Given the description of an element on the screen output the (x, y) to click on. 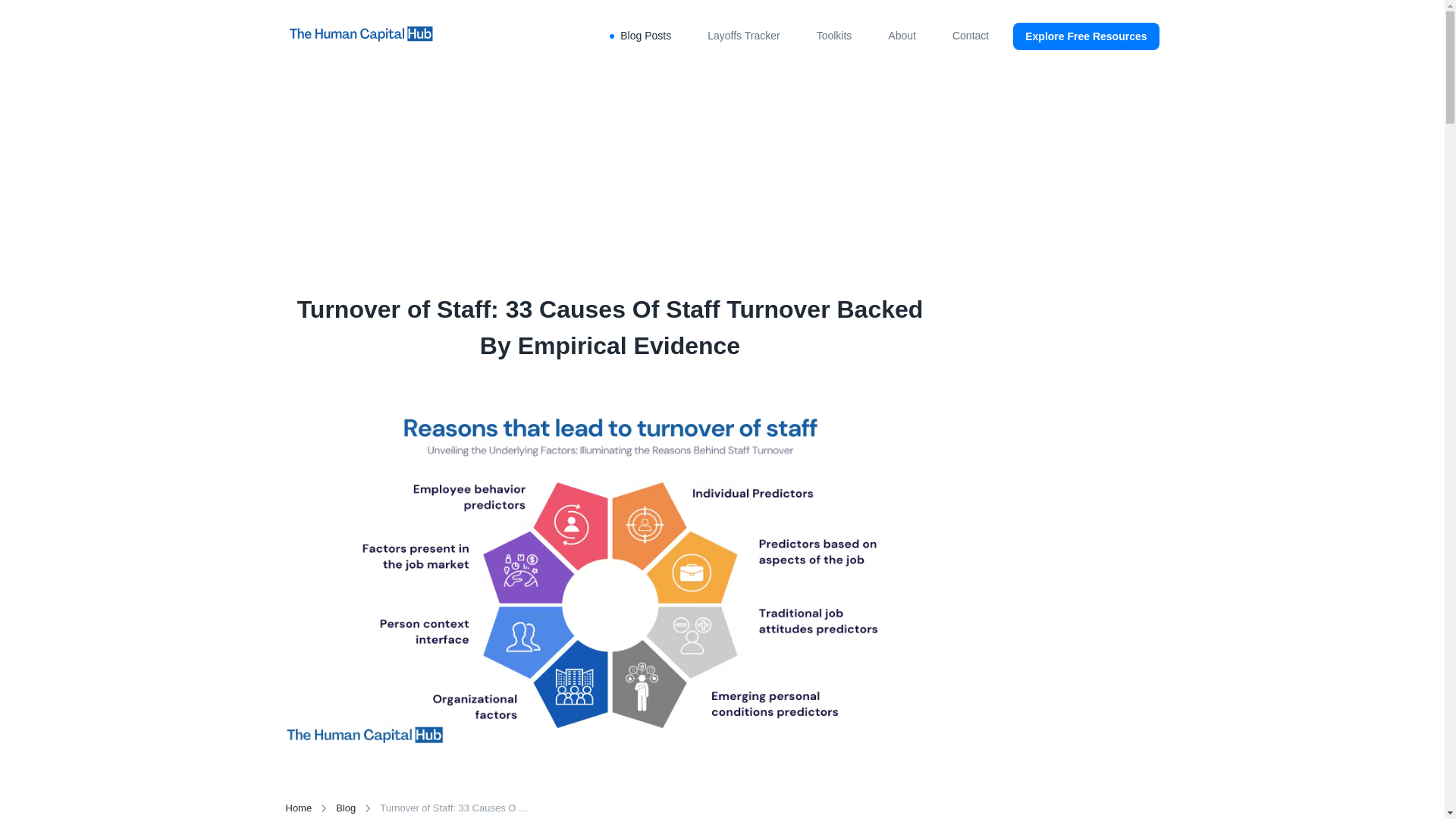
Contact (970, 35)
Home (298, 808)
Toolkits (833, 35)
Blog (345, 808)
About (901, 35)
Explore Free Resources (1085, 35)
Blog Posts (645, 35)
Layoffs Tracker (742, 35)
